Given the description of an element on the screen output the (x, y) to click on. 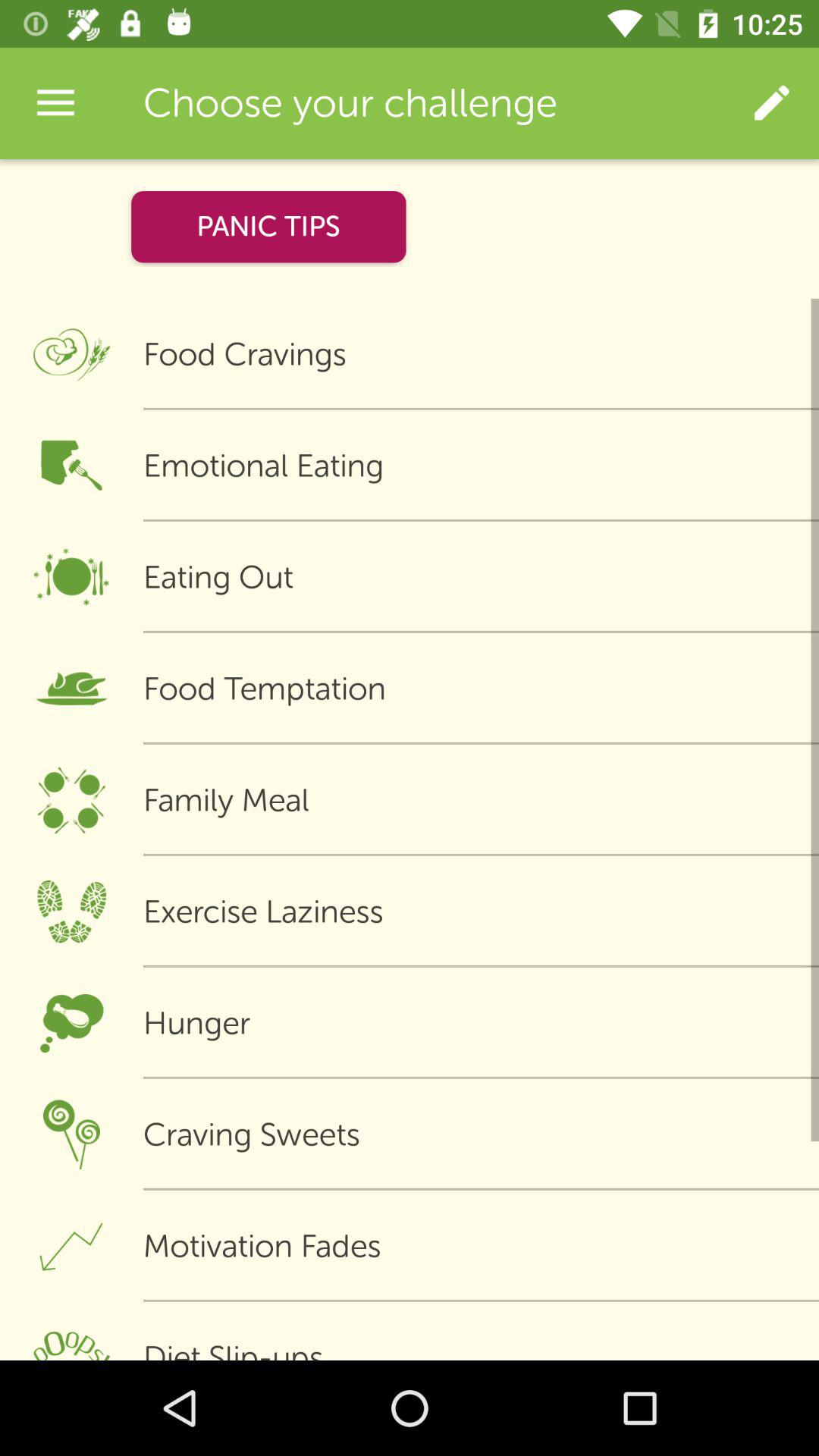
press the icon below the choose your challenge icon (268, 226)
